Given the description of an element on the screen output the (x, y) to click on. 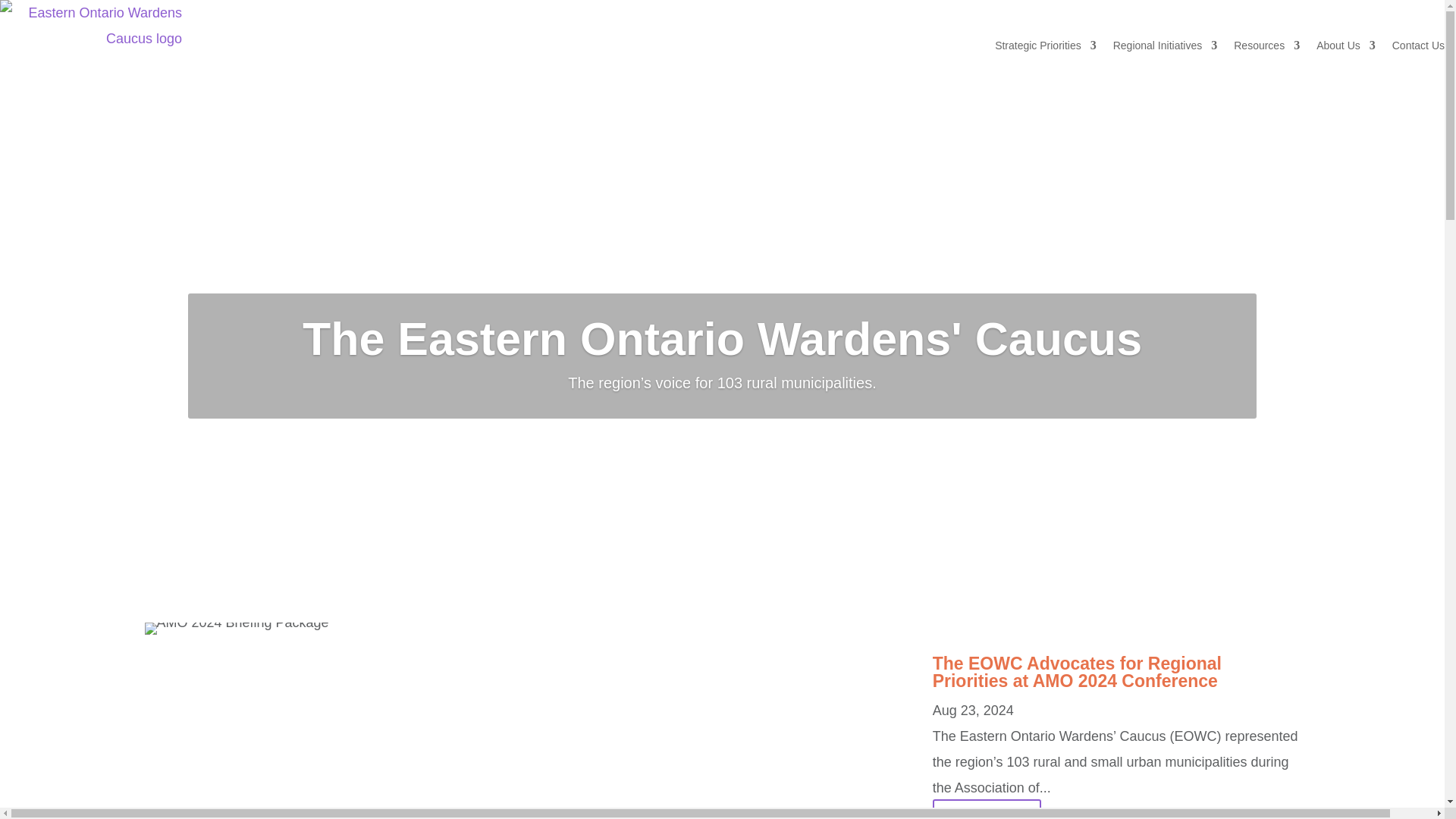
Read More (987, 809)
AMO 2024 Briefing Package - Final (236, 628)
Regional Initiatives (1165, 45)
Strategic Priorities (1045, 45)
